Given the description of an element on the screen output the (x, y) to click on. 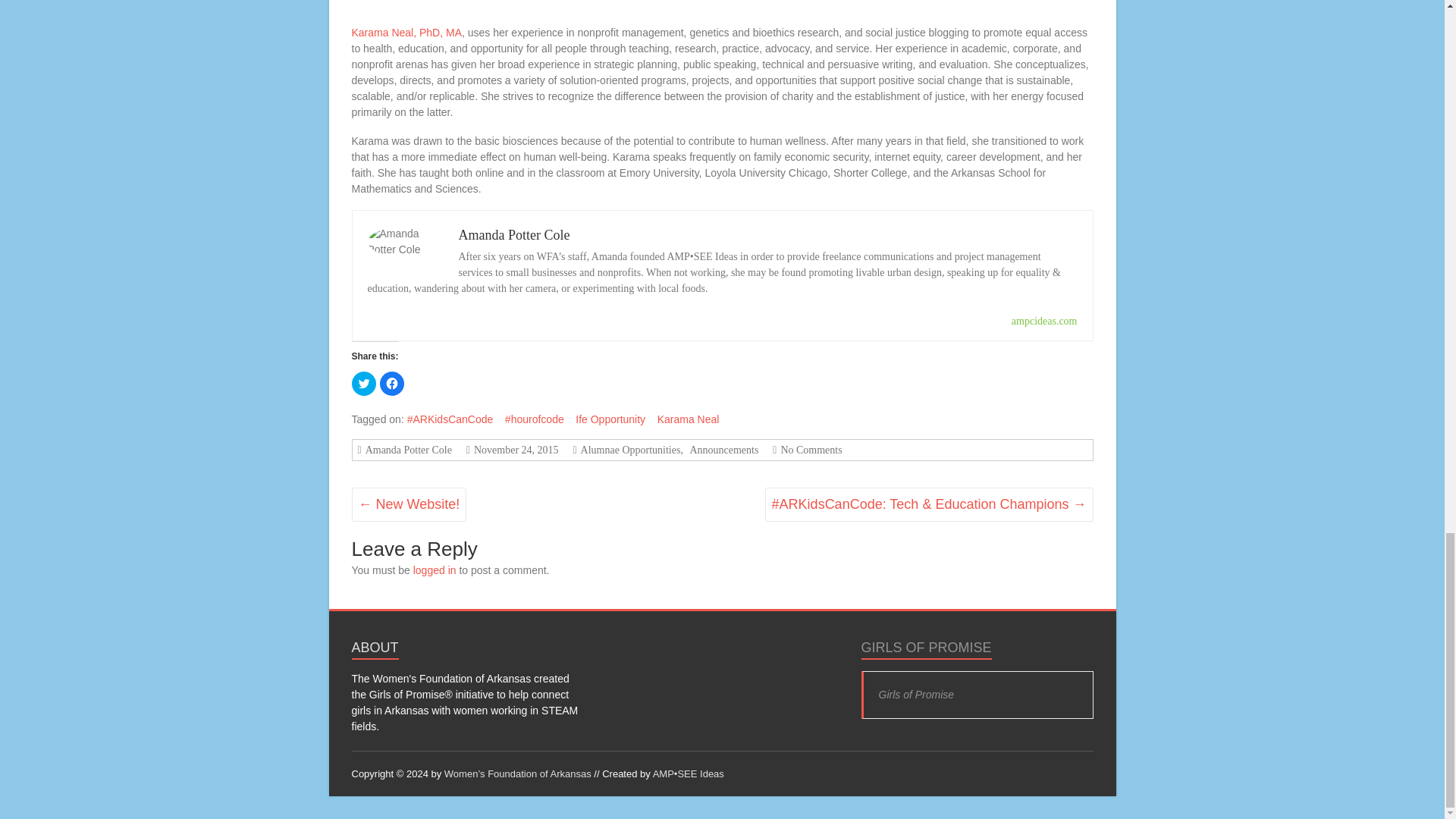
Click to share on Twitter (363, 383)
Karama Neal, PhD, MA (407, 32)
ampcideas.com (1044, 320)
Amanda Potter Cole (513, 234)
9:14 am (514, 449)
Click to share on Facebook (390, 383)
